Given the description of an element on the screen output the (x, y) to click on. 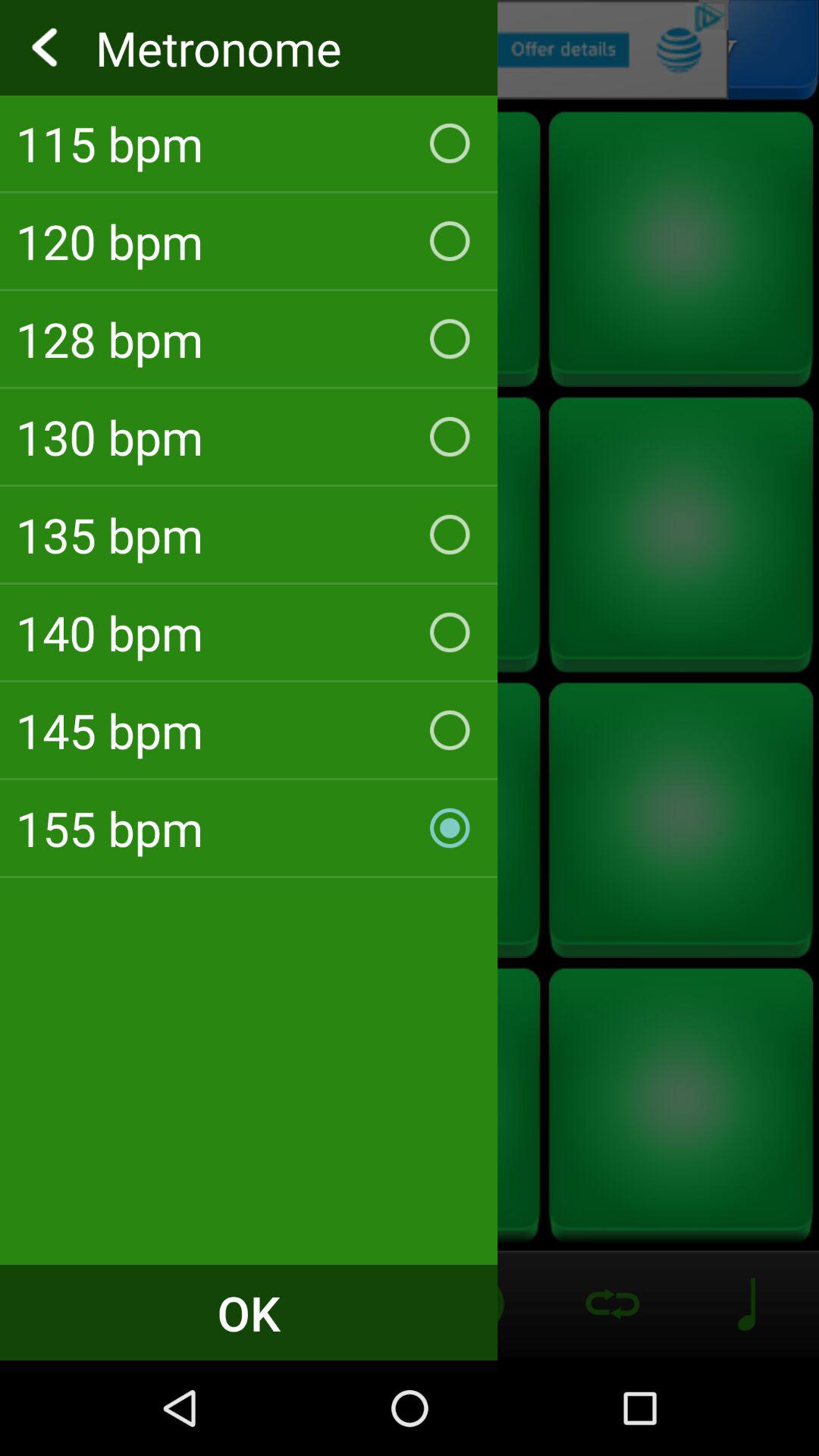
tap item above the 135 bpm item (248, 436)
